Given the description of an element on the screen output the (x, y) to click on. 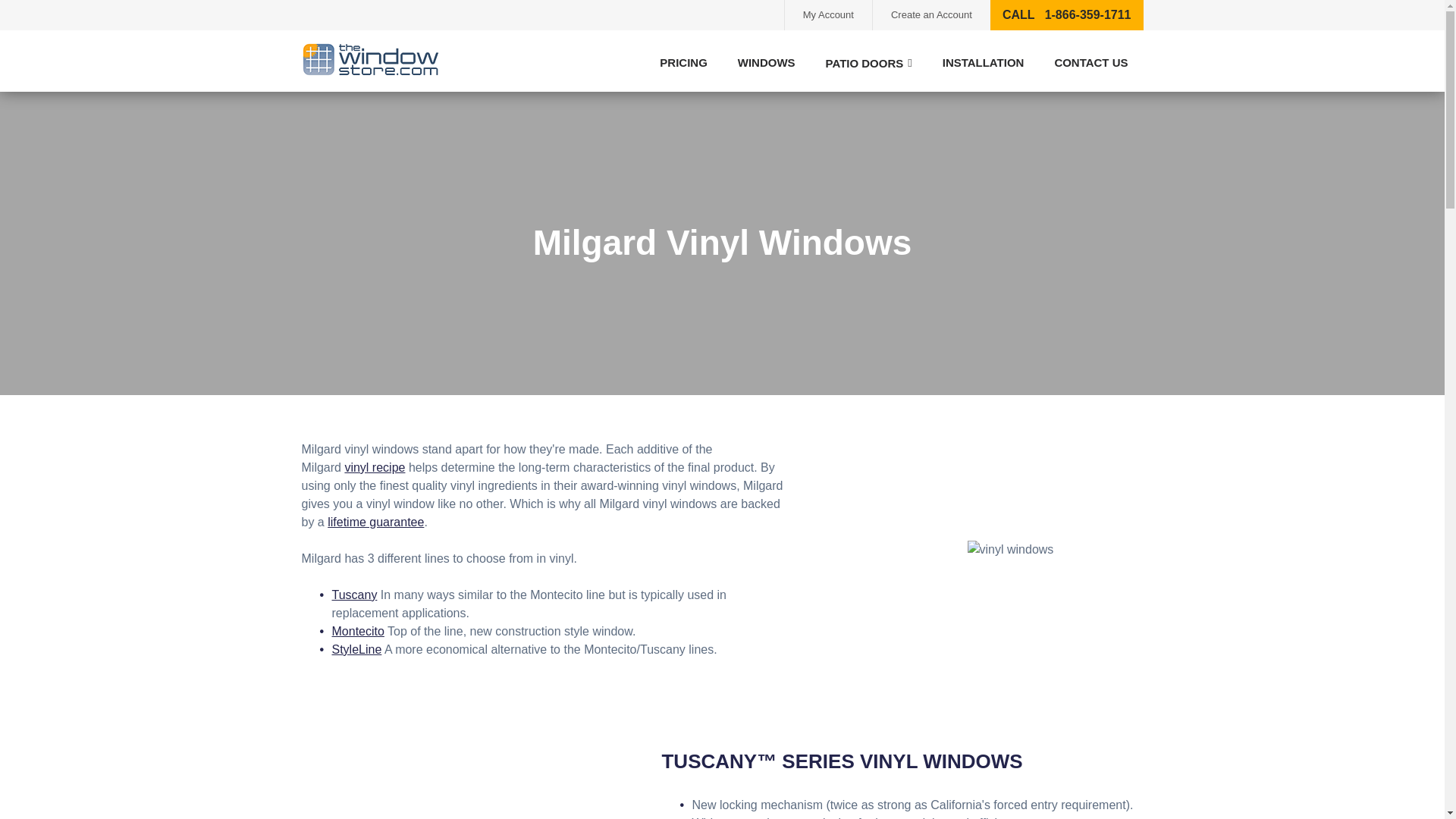
vinyl recipe (373, 467)
INSTALLATION (983, 61)
My Account (828, 15)
Montecito (357, 631)
StyleLine (356, 649)
CONTACT US (1090, 61)
PRICING (683, 61)
CALL   1-866-359-1711 (1066, 15)
lifetime guarantee (375, 521)
Tuscany (354, 594)
